Given the description of an element on the screen output the (x, y) to click on. 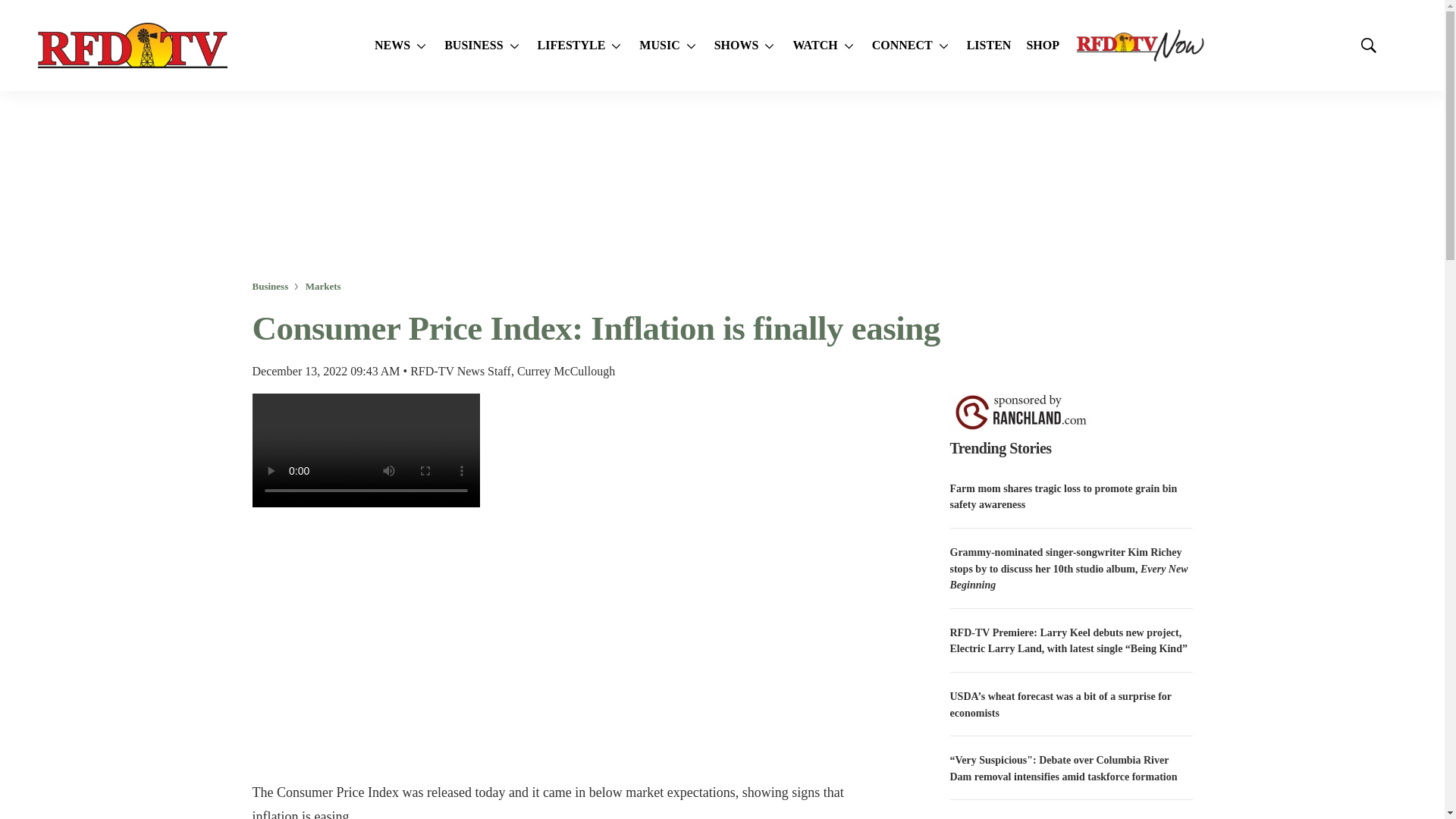
3rd party ad content (721, 185)
